Given the description of an element on the screen output the (x, y) to click on. 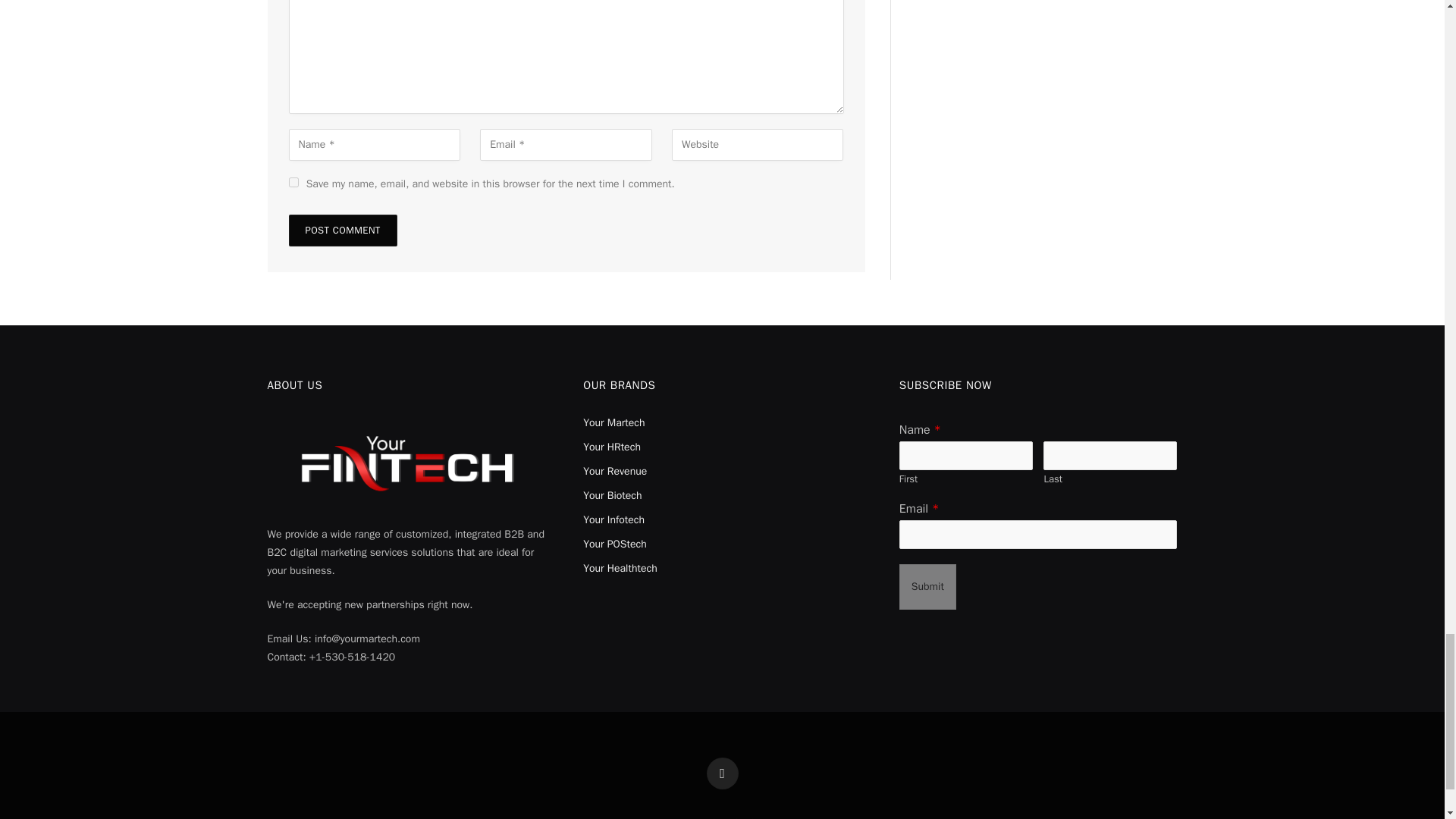
yes (293, 182)
Post Comment (342, 230)
